Given the description of an element on the screen output the (x, y) to click on. 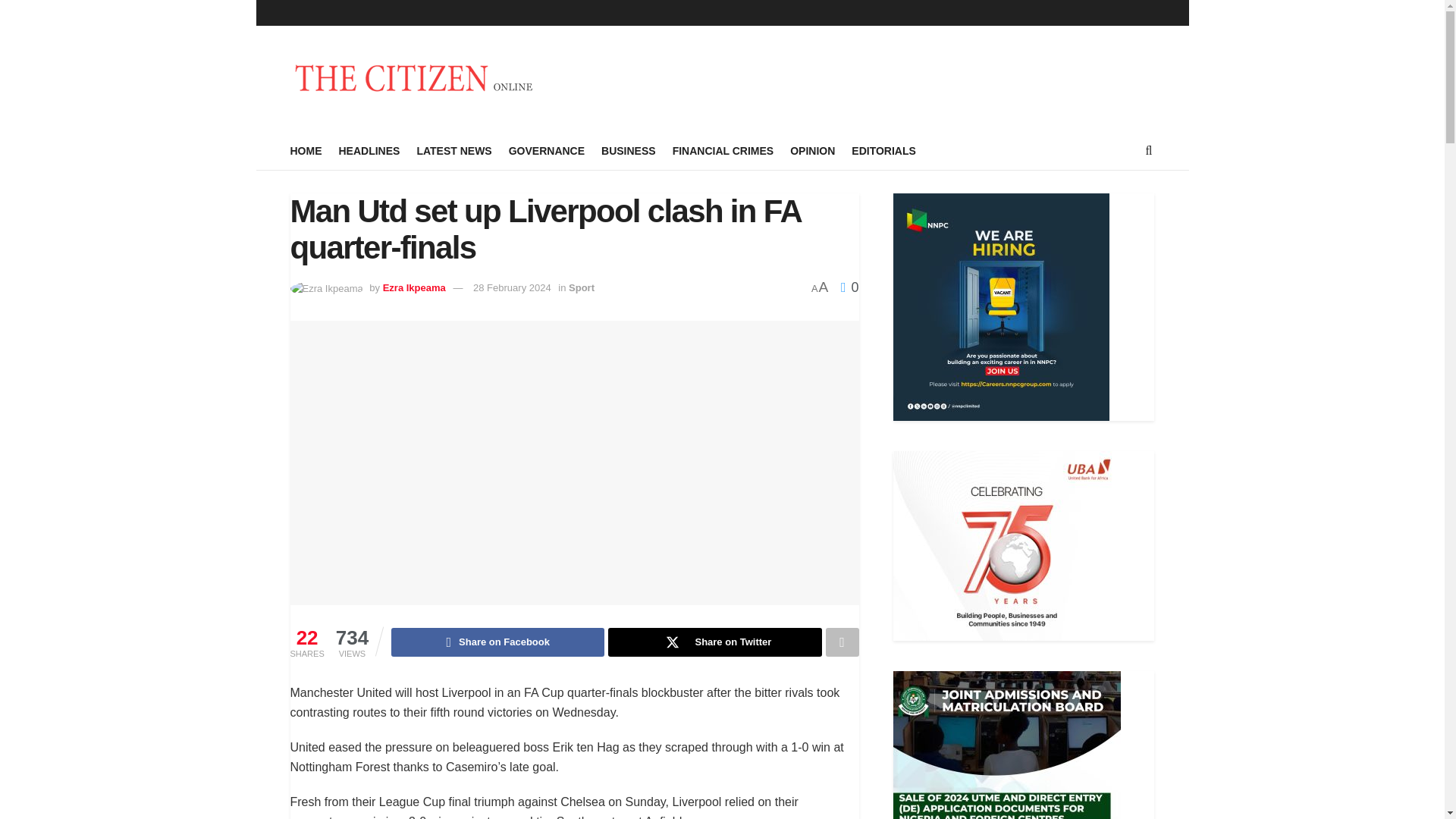
FINANCIAL CRIMES (723, 150)
0 (850, 287)
GOVERNANCE (546, 150)
BUSINESS (628, 150)
Share on Twitter (714, 642)
Sport (581, 287)
LATEST NEWS (454, 150)
HEADLINES (367, 150)
Ezra Ikpeama (413, 287)
EDITORIALS (883, 150)
